Given the description of an element on the screen output the (x, y) to click on. 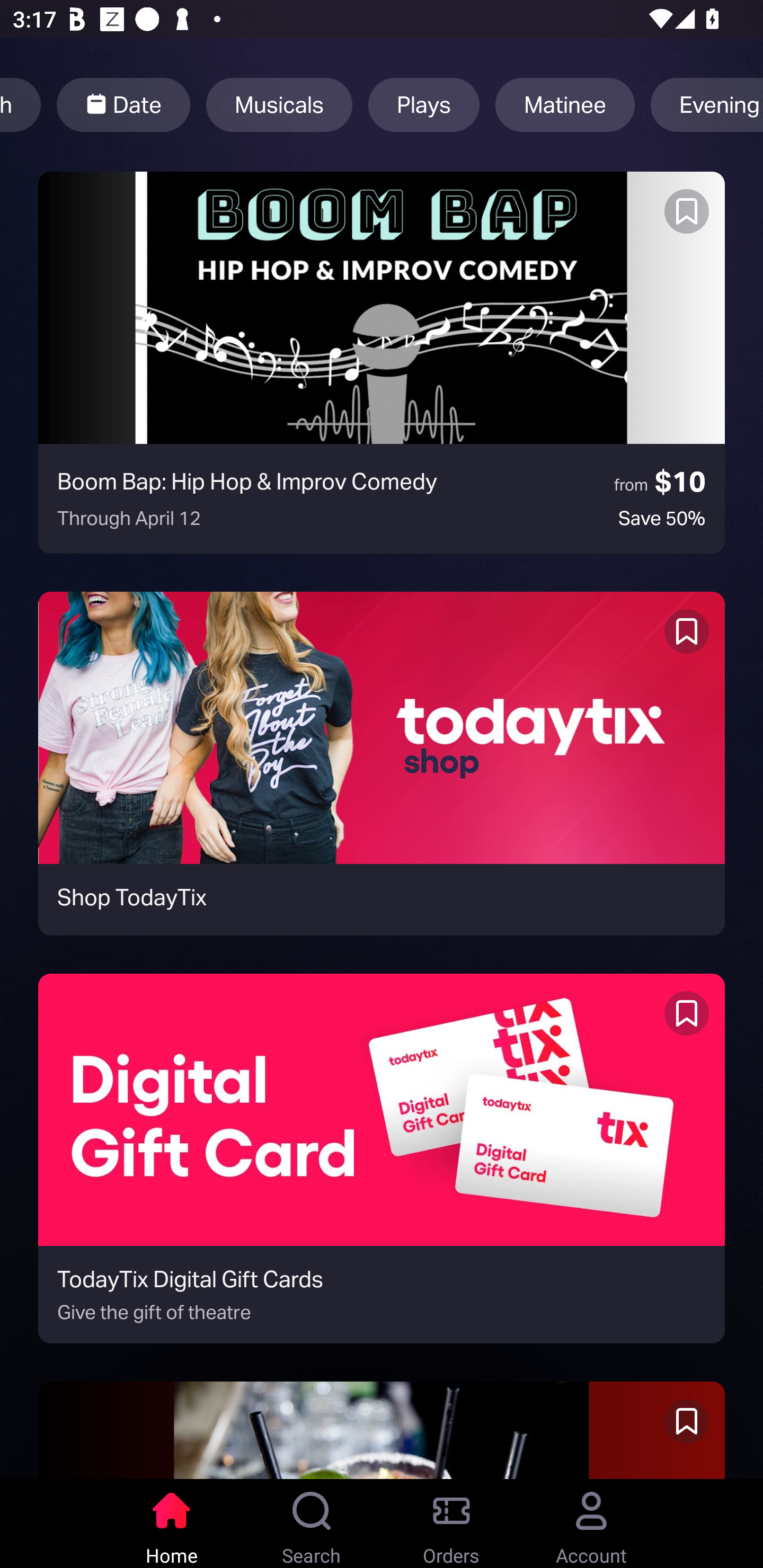
Date (122, 104)
Musicals (279, 104)
Plays (423, 104)
Matinee (564, 104)
Shop TodayTix (381, 763)
Search (311, 1523)
Orders (451, 1523)
Account (591, 1523)
